Given the description of an element on the screen output the (x, y) to click on. 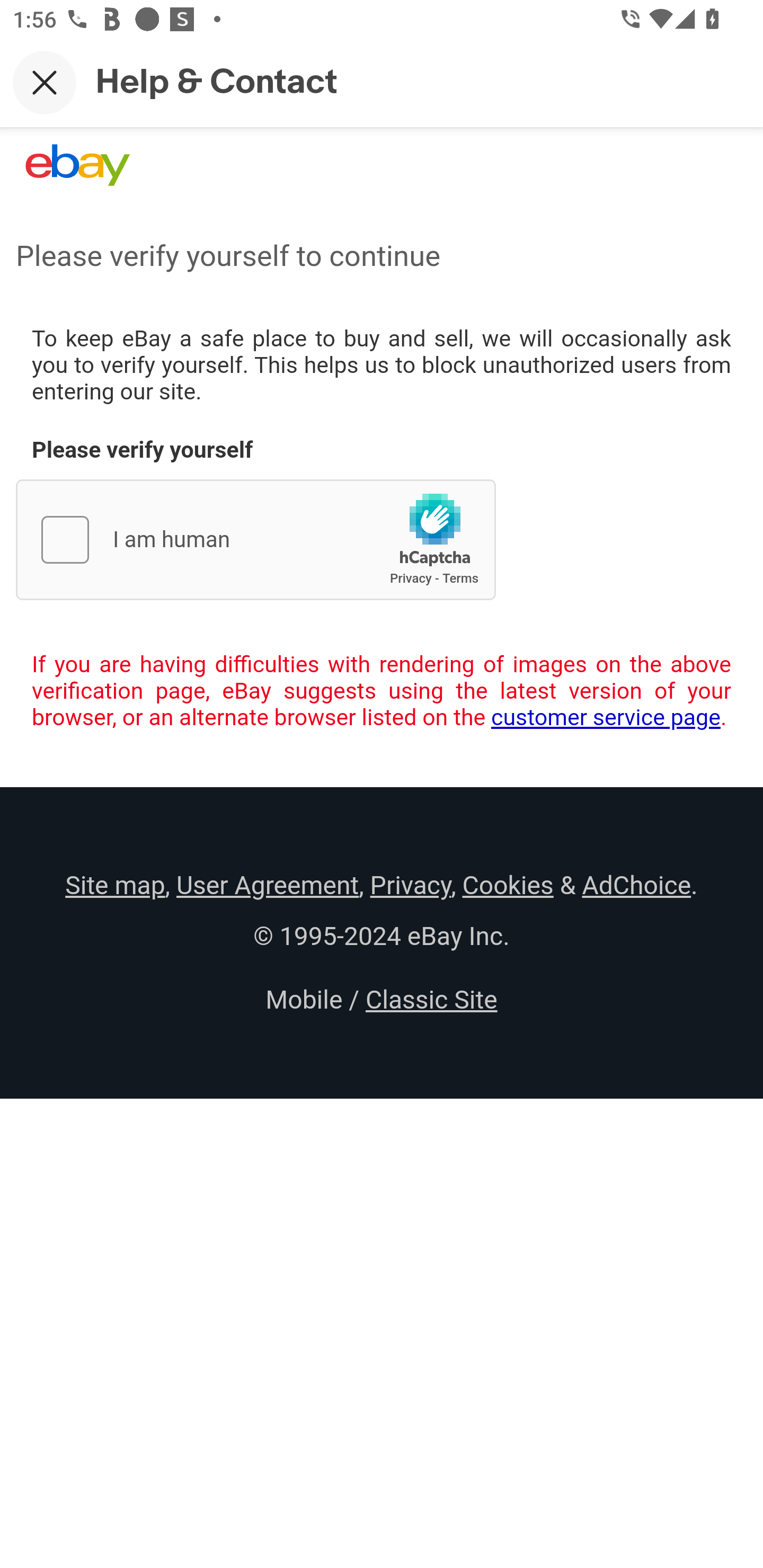
Close (44, 82)
eBay Home (77, 165)
hCaptcha Privacy Policy Privacy (410, 578)
hCaptcha Terms of Service Terms (459, 578)
customer service page (605, 717)
Site map (114, 884)
User Agreement (266, 884)
Privacy (409, 884)
Cookies (507, 884)
AdChoice (636, 884)
